Given the description of an element on the screen output the (x, y) to click on. 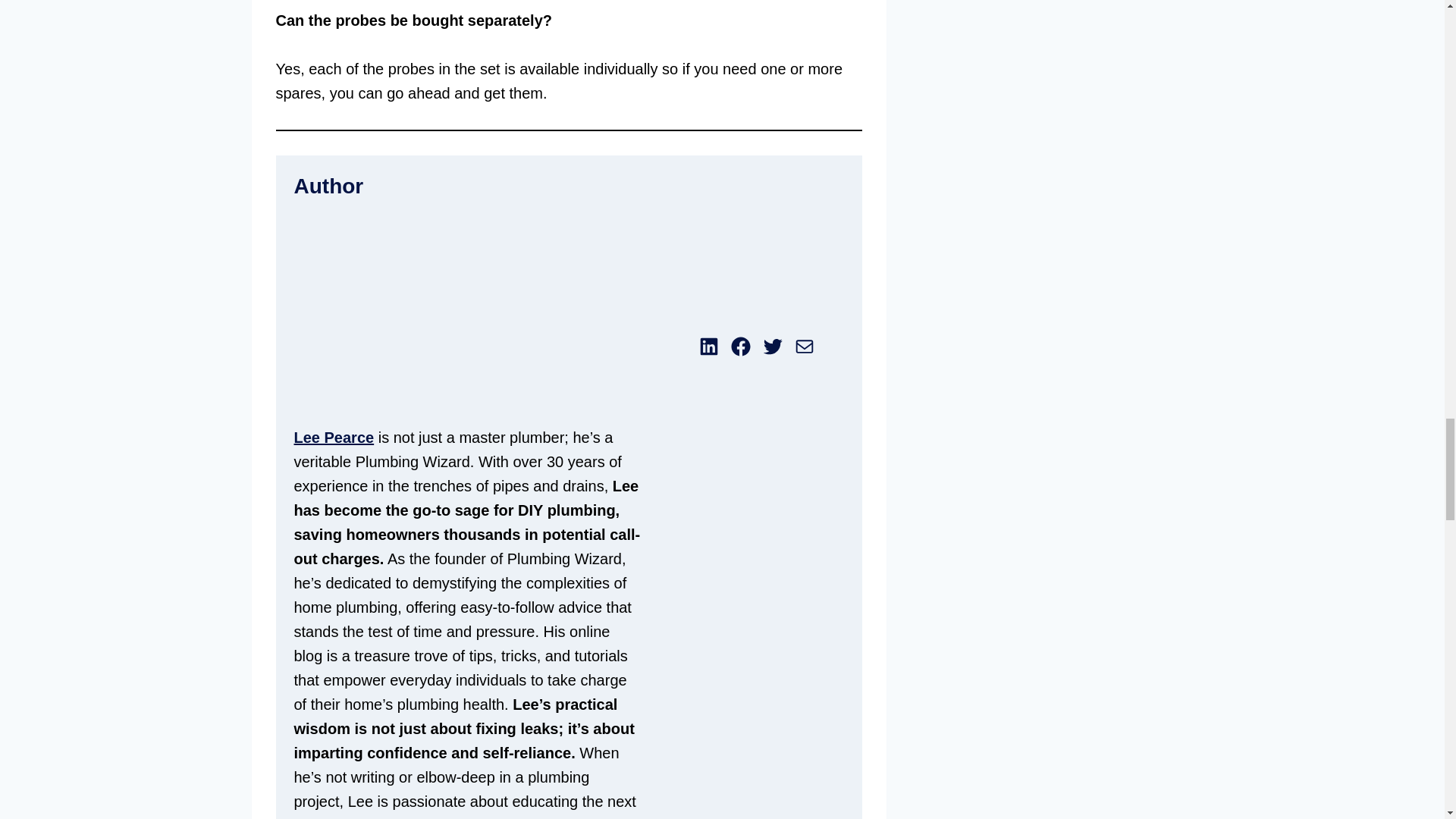
Facebook (740, 345)
Twitter (772, 345)
LinkedIn (708, 345)
Mail (804, 345)
Lee Pearce (334, 437)
